Given the description of an element on the screen output the (x, y) to click on. 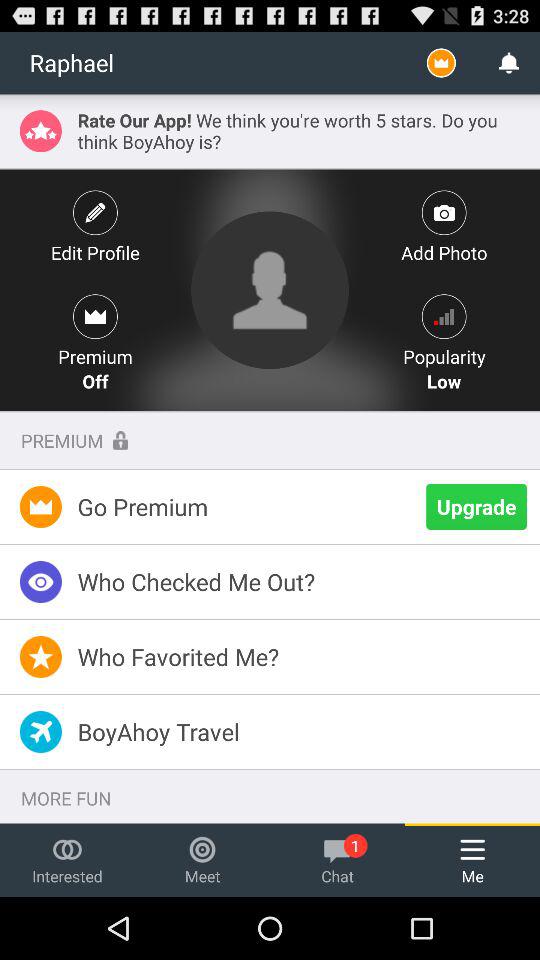
edit profile picture (269, 290)
